Given the description of an element on the screen output the (x, y) to click on. 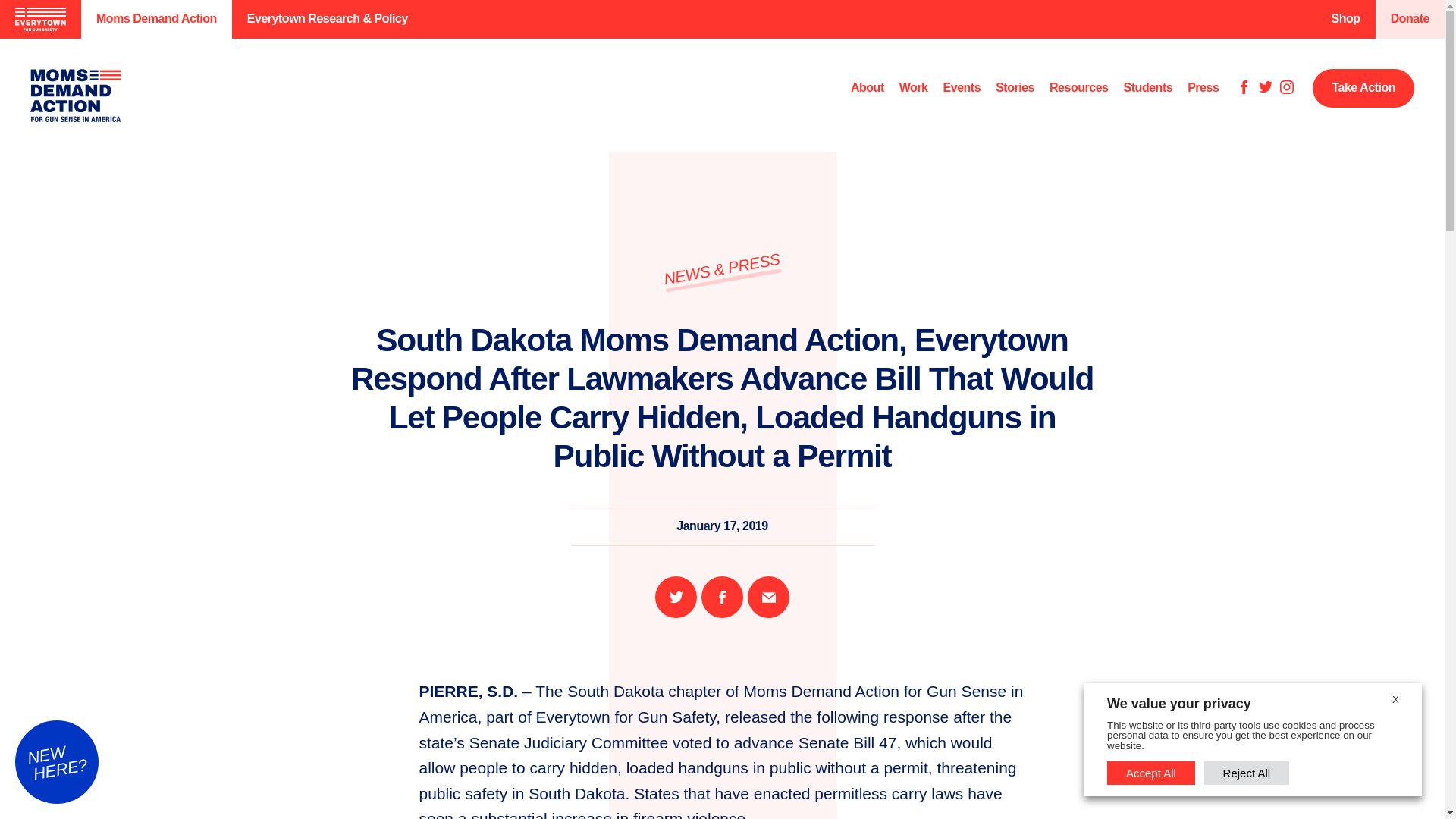
Shop (1345, 19)
Stories (1014, 88)
Resources (1078, 88)
Events (962, 88)
Press (1203, 88)
Moms Demand Action (156, 19)
Follow us on Instagram (1286, 88)
Students (1148, 88)
Take Action (1363, 87)
About (866, 88)
